Given the description of an element on the screen output the (x, y) to click on. 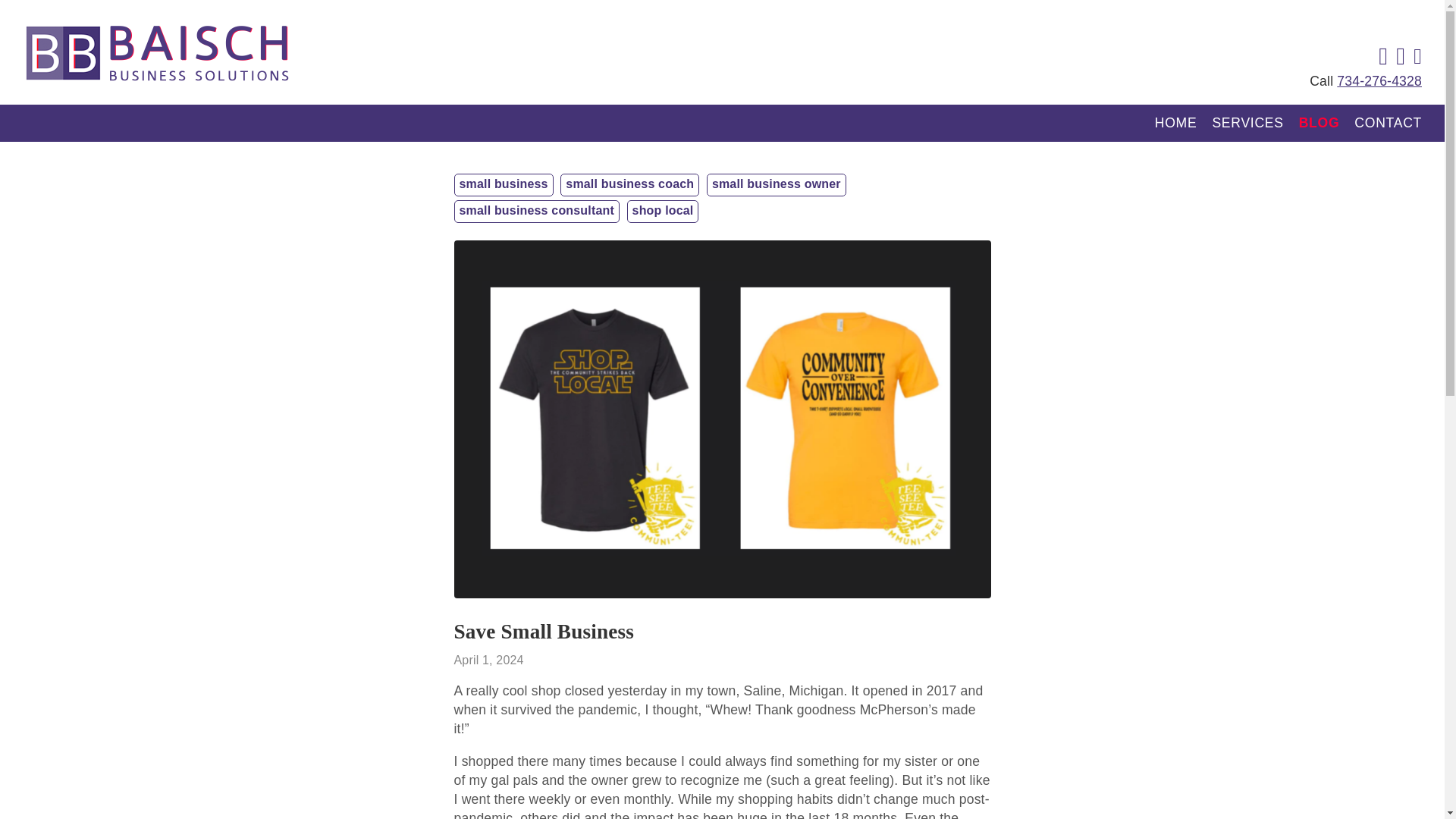
dial number (1379, 80)
small business owner (776, 184)
small business (503, 184)
shop local (662, 210)
734-276-4328 (1379, 80)
small business coach (629, 184)
HOME (1176, 123)
CONTACT (1387, 123)
small business consultant (536, 210)
SERVICES (1247, 123)
